Given the description of an element on the screen output the (x, y) to click on. 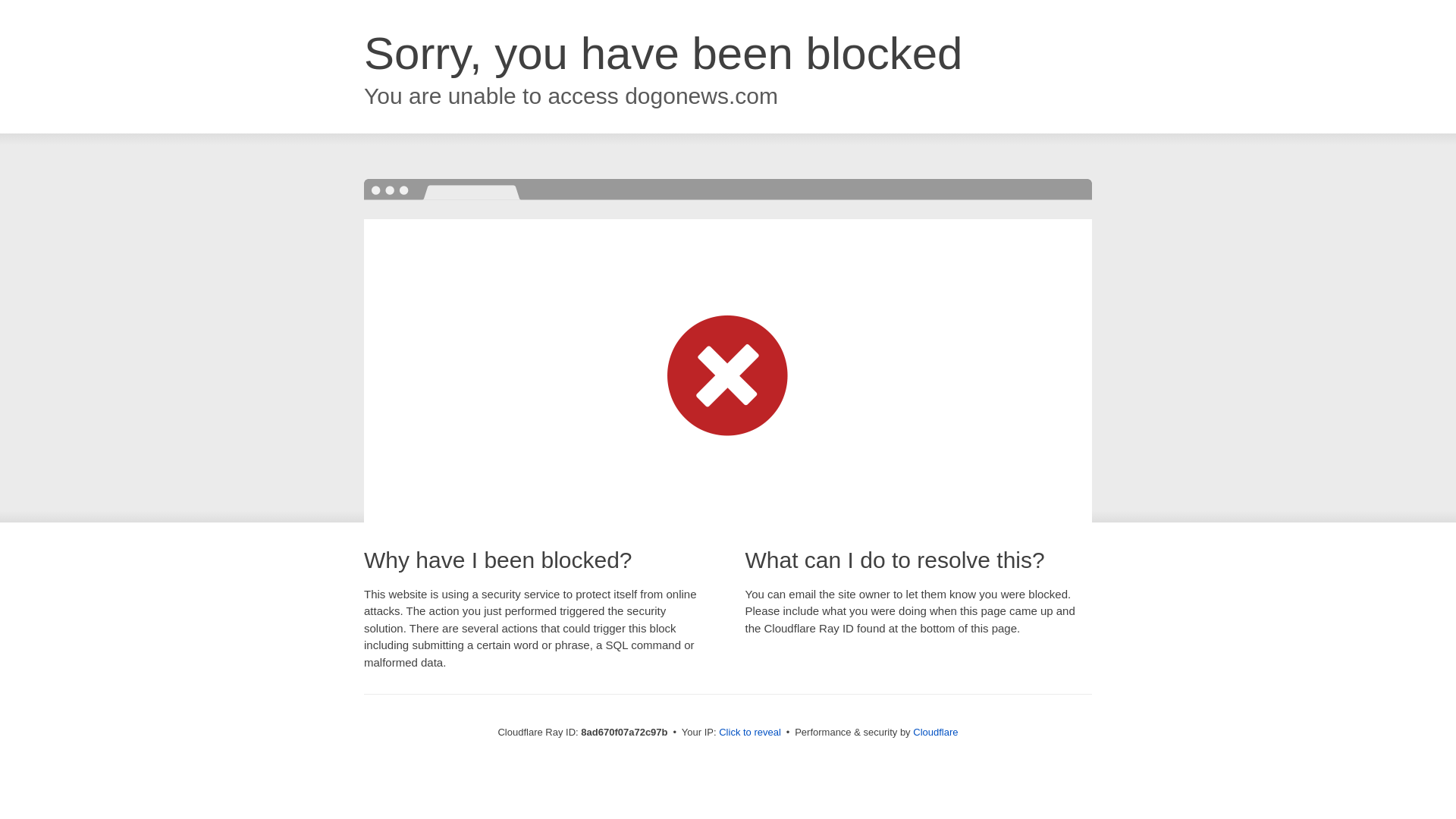
Cloudflare (935, 731)
Click to reveal (749, 732)
